Given the description of an element on the screen output the (x, y) to click on. 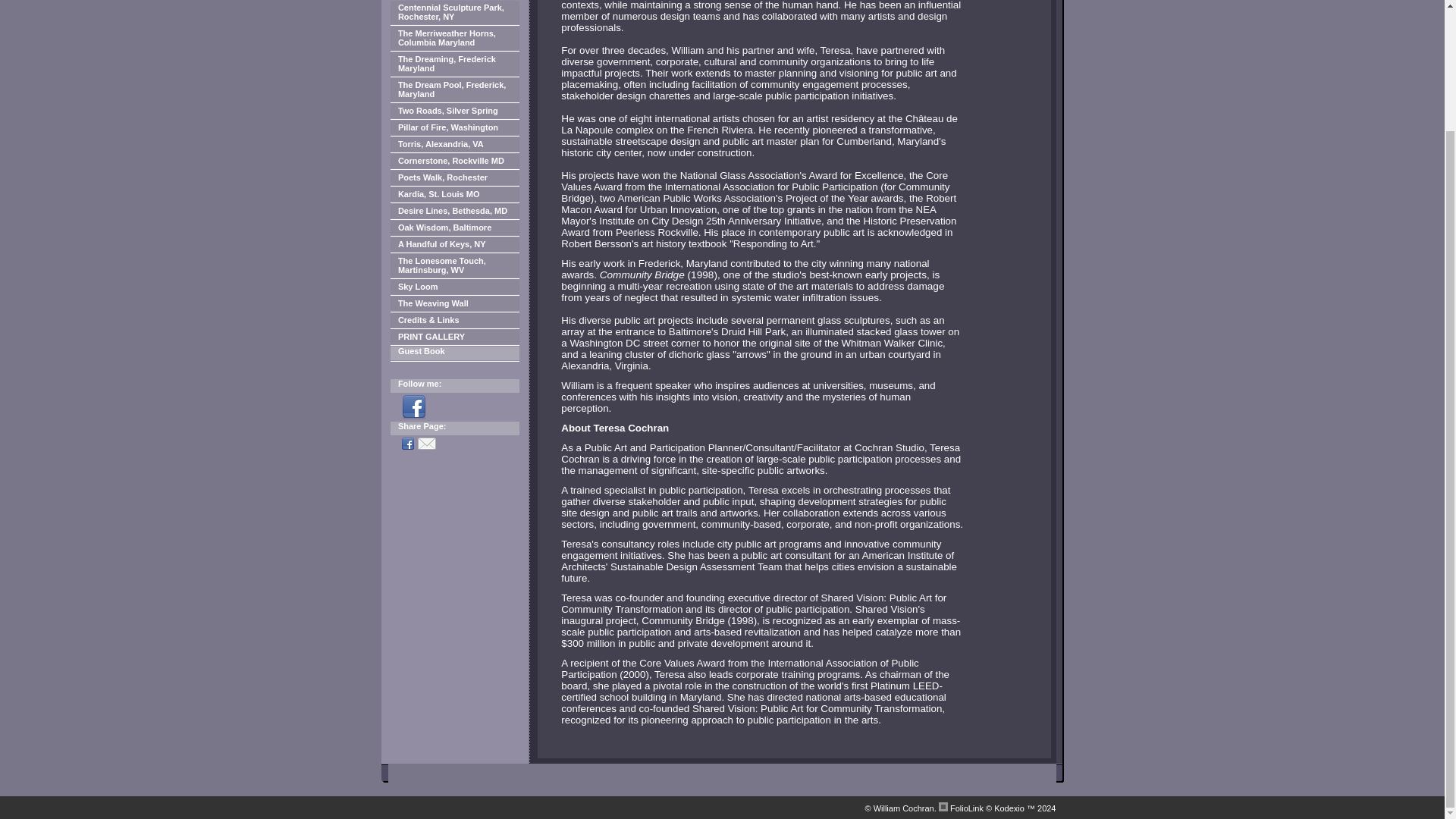
PRINT GALLERY (454, 336)
FolioLink (967, 808)
Torris, Alexandria, VA (454, 144)
Oak Wisdom, Baltimore (454, 227)
Share Page: (454, 427)
Centennial Sculpture Park, Rochester, NY (454, 12)
Cornerstone, Rockville MD (454, 160)
Guest Book (454, 353)
Two Roads, Silver Spring (454, 110)
The Lonesome Touch, Martinsburg, WV (454, 265)
Pillar of Fire, Washington (454, 127)
Desire Lines, Bethesda, MD (454, 210)
The Dreaming, Frederick Maryland (454, 64)
The Dream Pool, Frederick, Maryland (454, 89)
The Merriweather Horns, Columbia Maryland (454, 37)
